Given the description of an element on the screen output the (x, y) to click on. 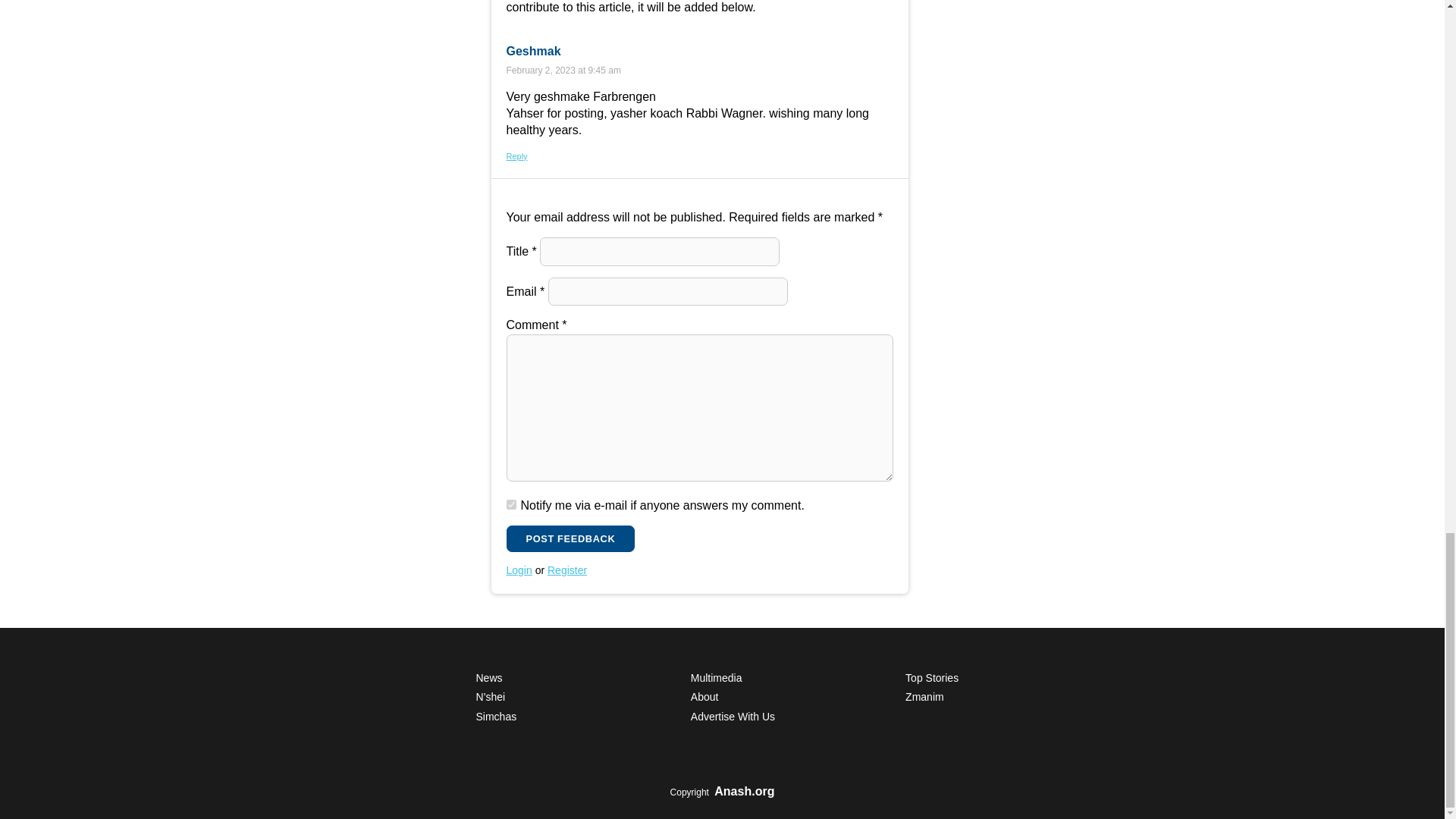
on (511, 504)
Post Feedback (570, 538)
